Given the description of an element on the screen output the (x, y) to click on. 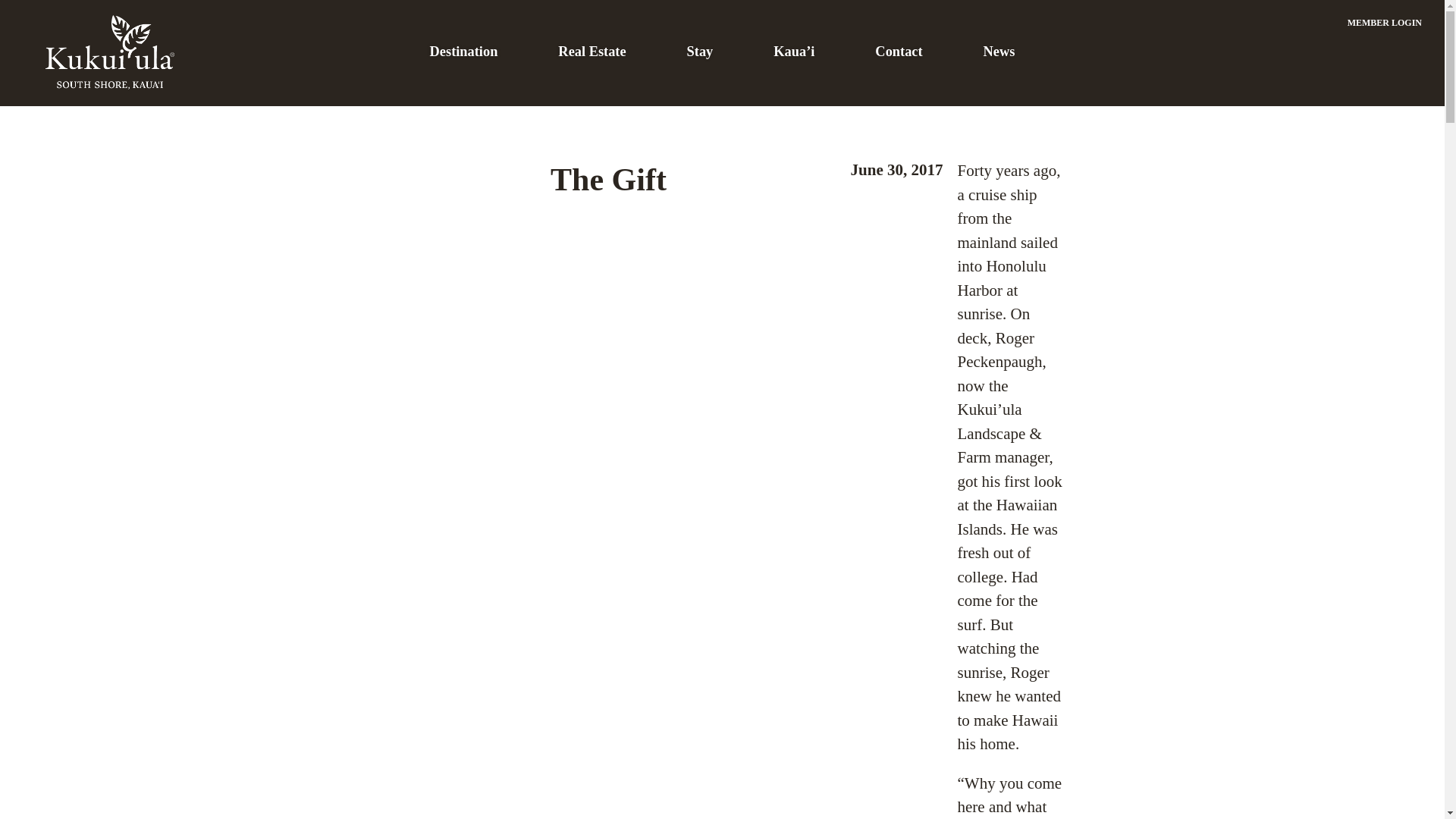
Destination (463, 51)
MEMBER LOGIN (1385, 22)
Real Estate (591, 51)
Stay (700, 51)
News (999, 51)
Contact (898, 51)
